Given the description of an element on the screen output the (x, y) to click on. 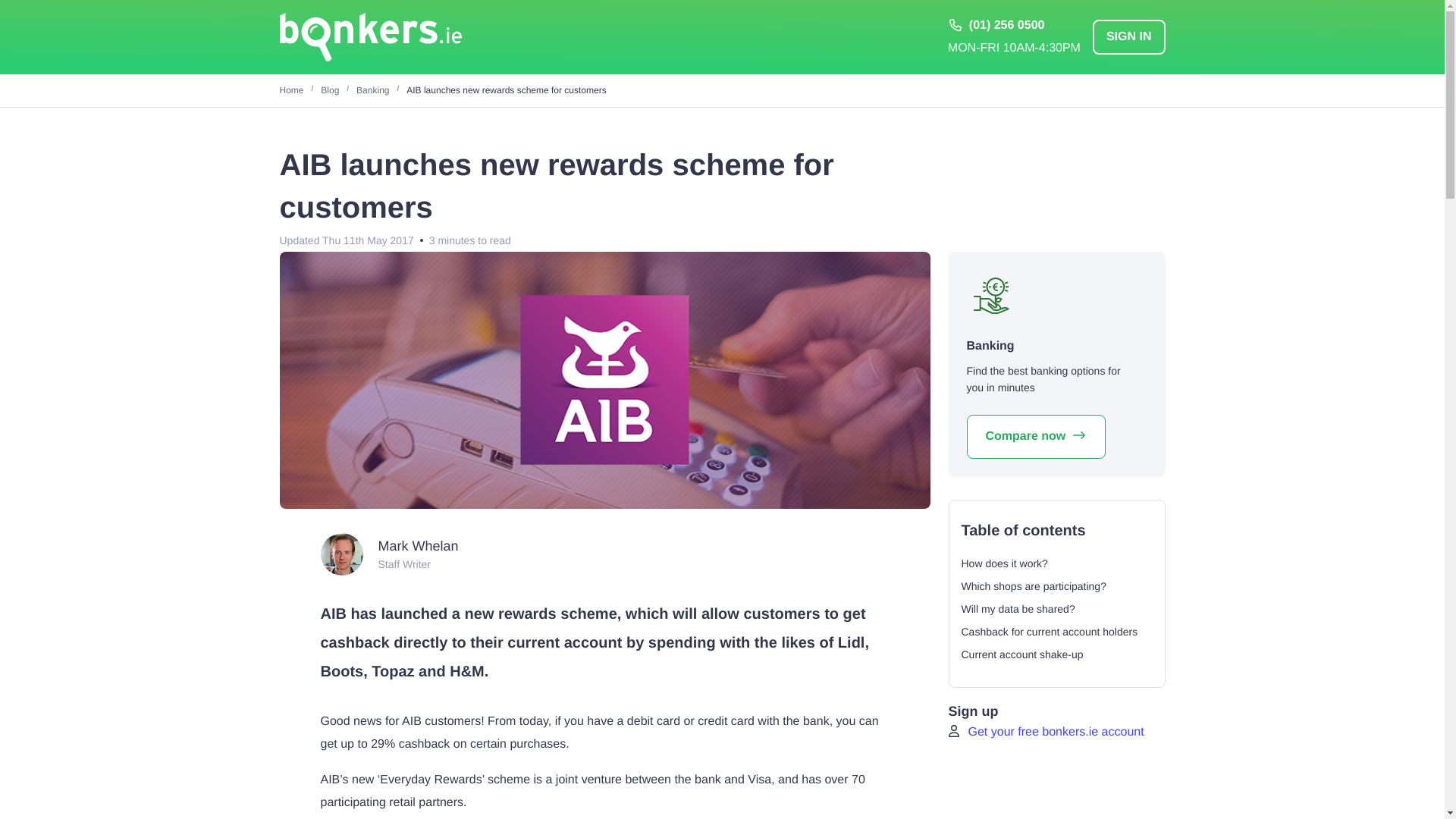
Compare now (1035, 436)
Mark Whelan (341, 554)
Mark Whelan (417, 545)
SIGN IN (1129, 36)
Current account shake-up (1021, 654)
Which shops are participating? (1033, 585)
Will my data be shared? (1017, 608)
Get your free bonkers.ie account (1050, 731)
bonkers.ie (370, 37)
